Given the description of an element on the screen output the (x, y) to click on. 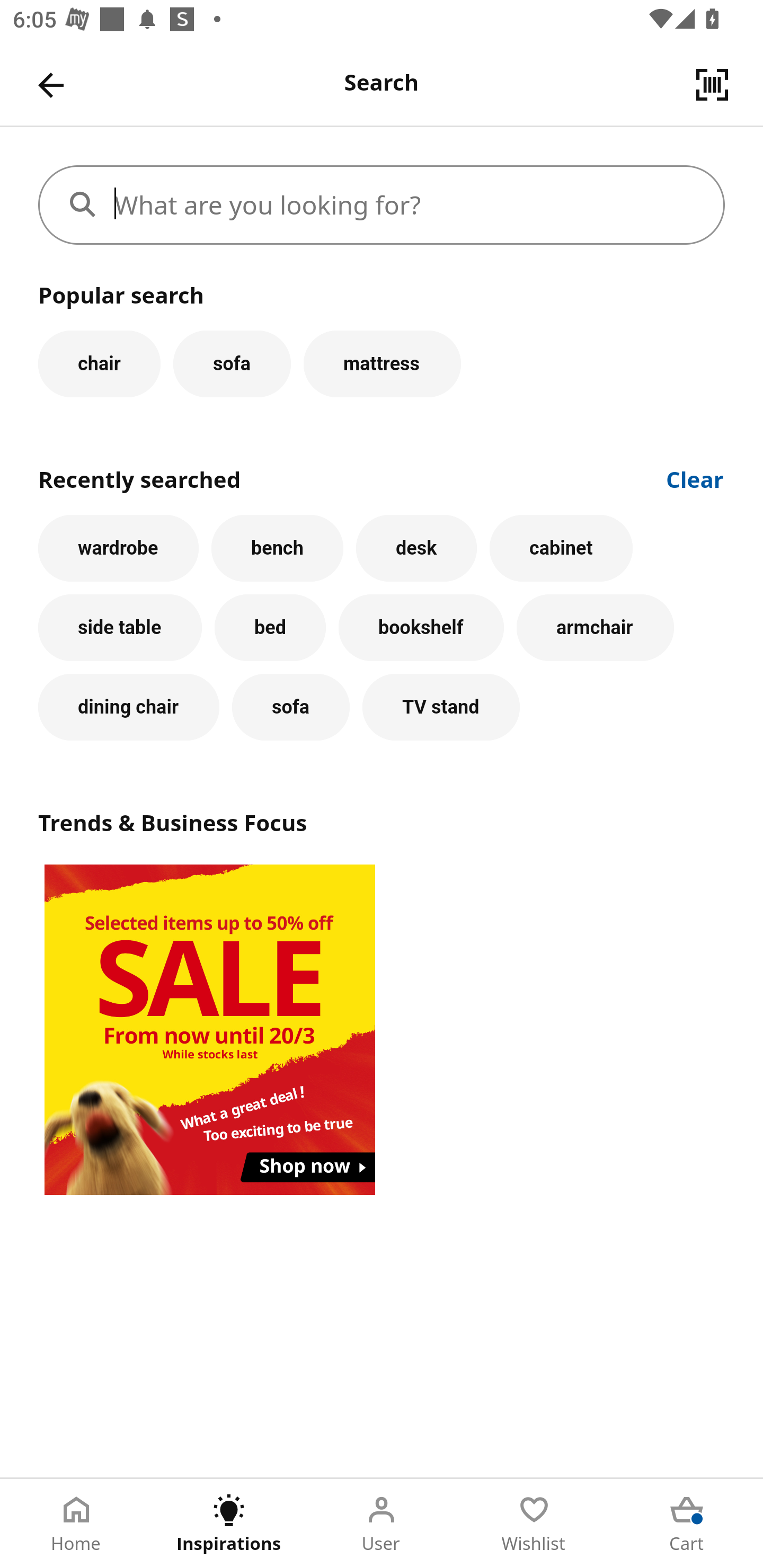
chair (99, 363)
sofa (231, 363)
mattress (381, 363)
Clear (695, 477)
wardrobe (118, 547)
bench (277, 547)
desk (416, 547)
cabinet (560, 547)
side table (120, 627)
bed (269, 627)
bookshelf (420, 627)
armchair (594, 627)
dining chair (128, 707)
sofa (290, 707)
TV stand (440, 707)
Home
Tab 1 of 5 (76, 1522)
Inspirations
Tab 2 of 5 (228, 1522)
User
Tab 3 of 5 (381, 1522)
Wishlist
Tab 4 of 5 (533, 1522)
Cart
Tab 5 of 5 (686, 1522)
